Given the description of an element on the screen output the (x, y) to click on. 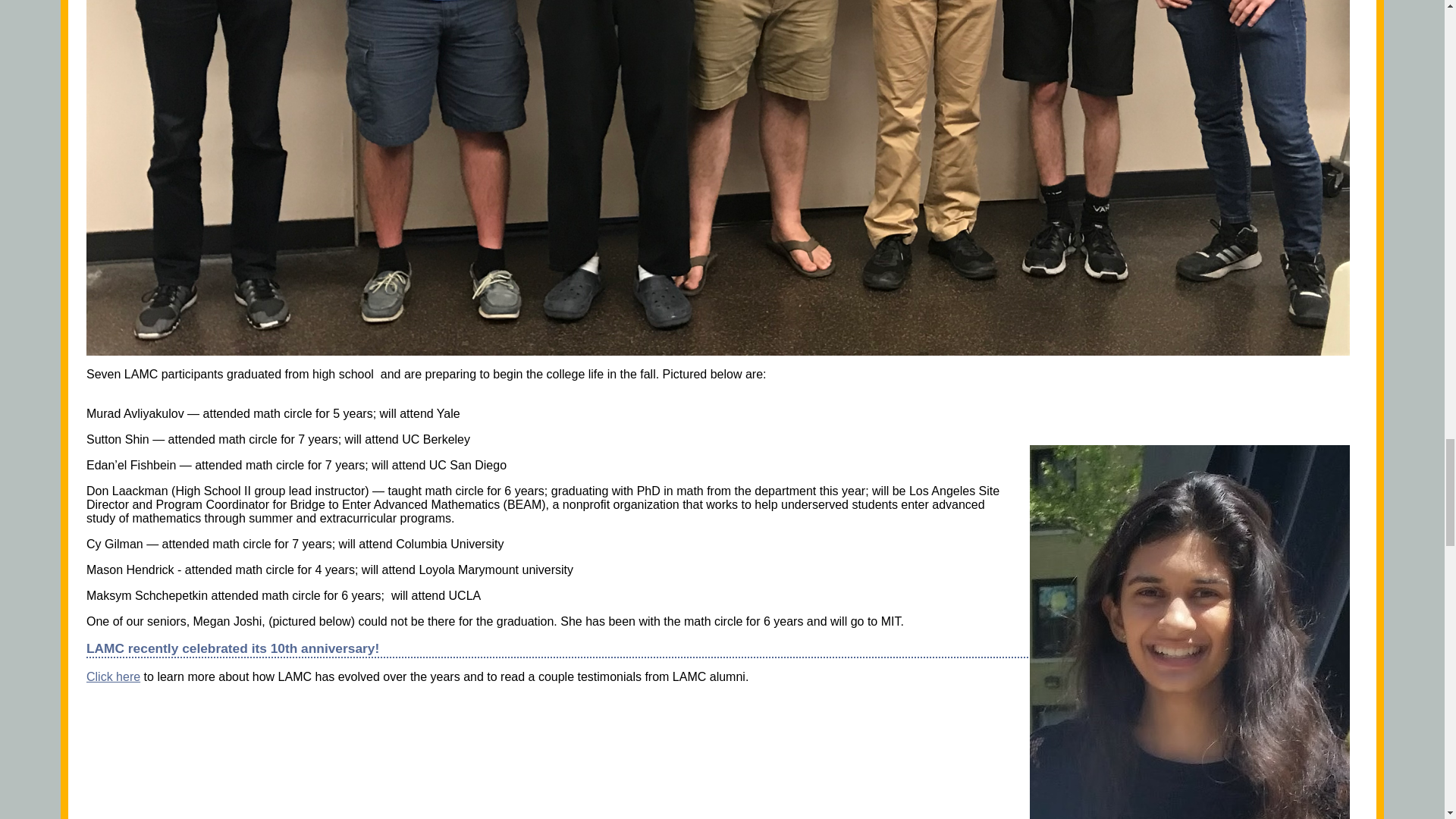
Click here (112, 676)
